Given the description of an element on the screen output the (x, y) to click on. 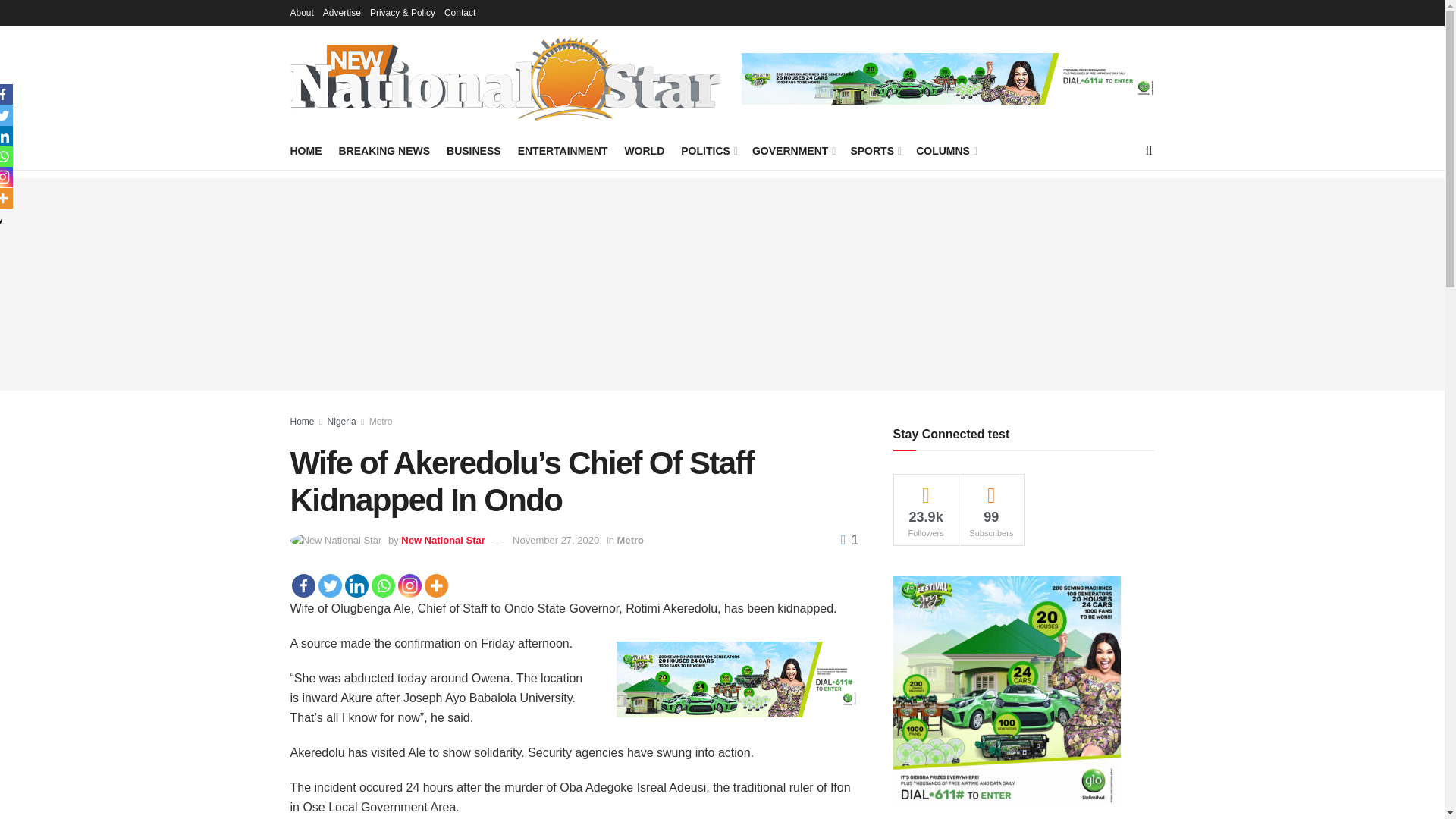
About (301, 12)
Linkedin (355, 585)
Contact (460, 12)
ENTERTAINMENT (563, 150)
COLUMNS (945, 150)
HOME (305, 150)
BUSINESS (473, 150)
SPORTS (874, 150)
WORLD (643, 150)
